Given the description of an element on the screen output the (x, y) to click on. 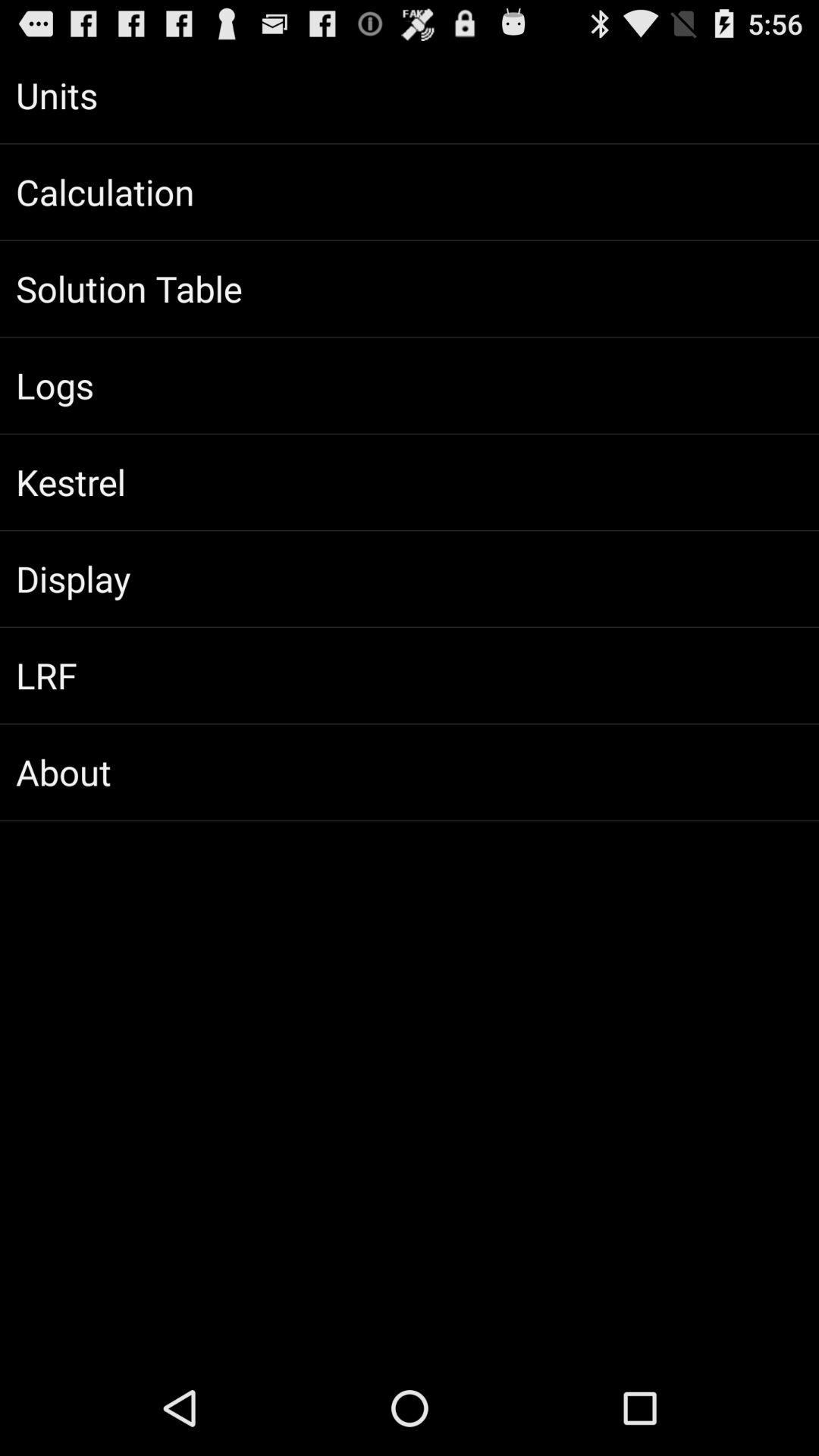
launch solution table icon (409, 288)
